Given the description of an element on the screen output the (x, y) to click on. 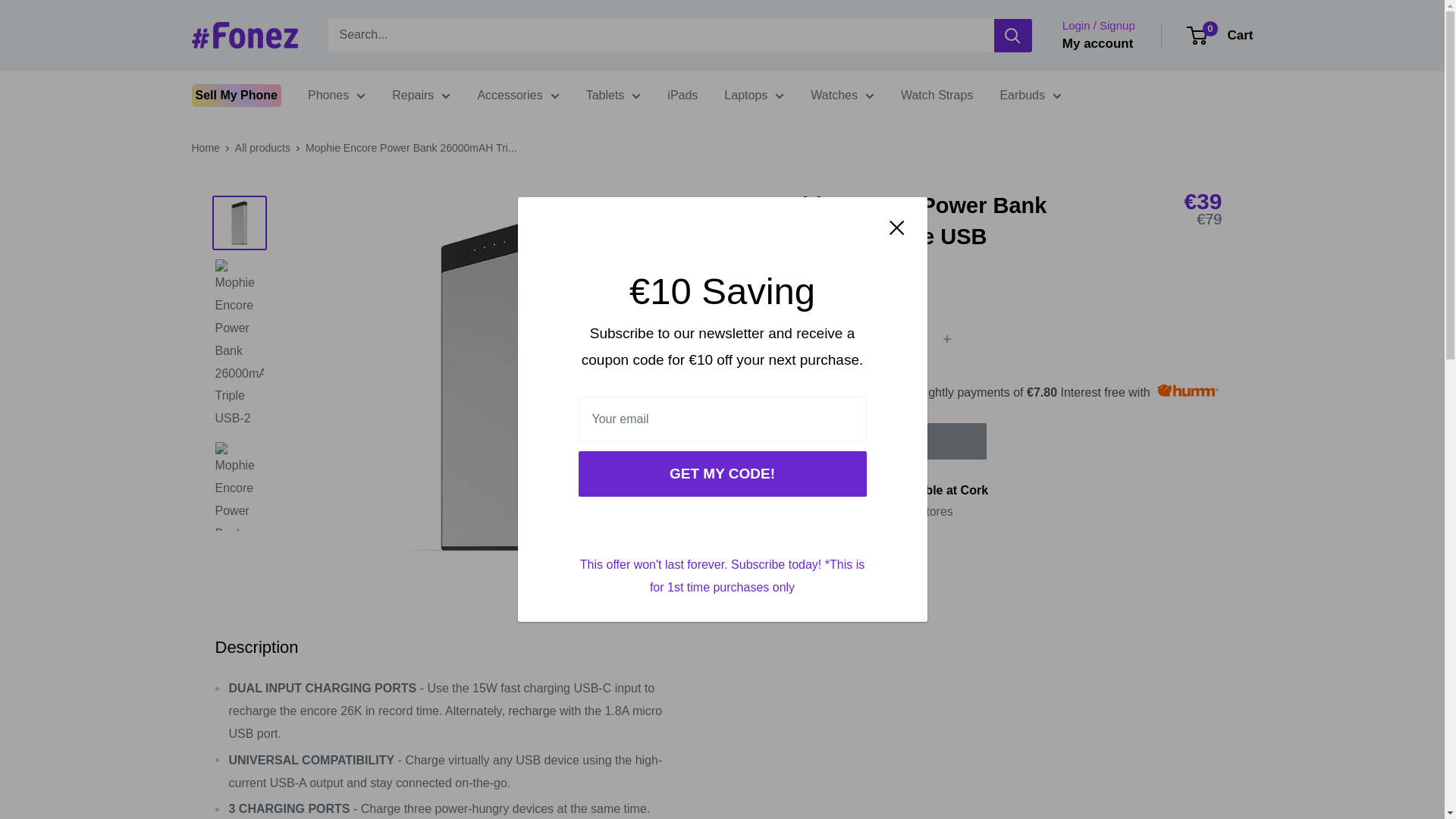
1 (906, 338)
Increase quantity by 1 (946, 338)
Decrease quantity by 1 (866, 338)
